Given the description of an element on the screen output the (x, y) to click on. 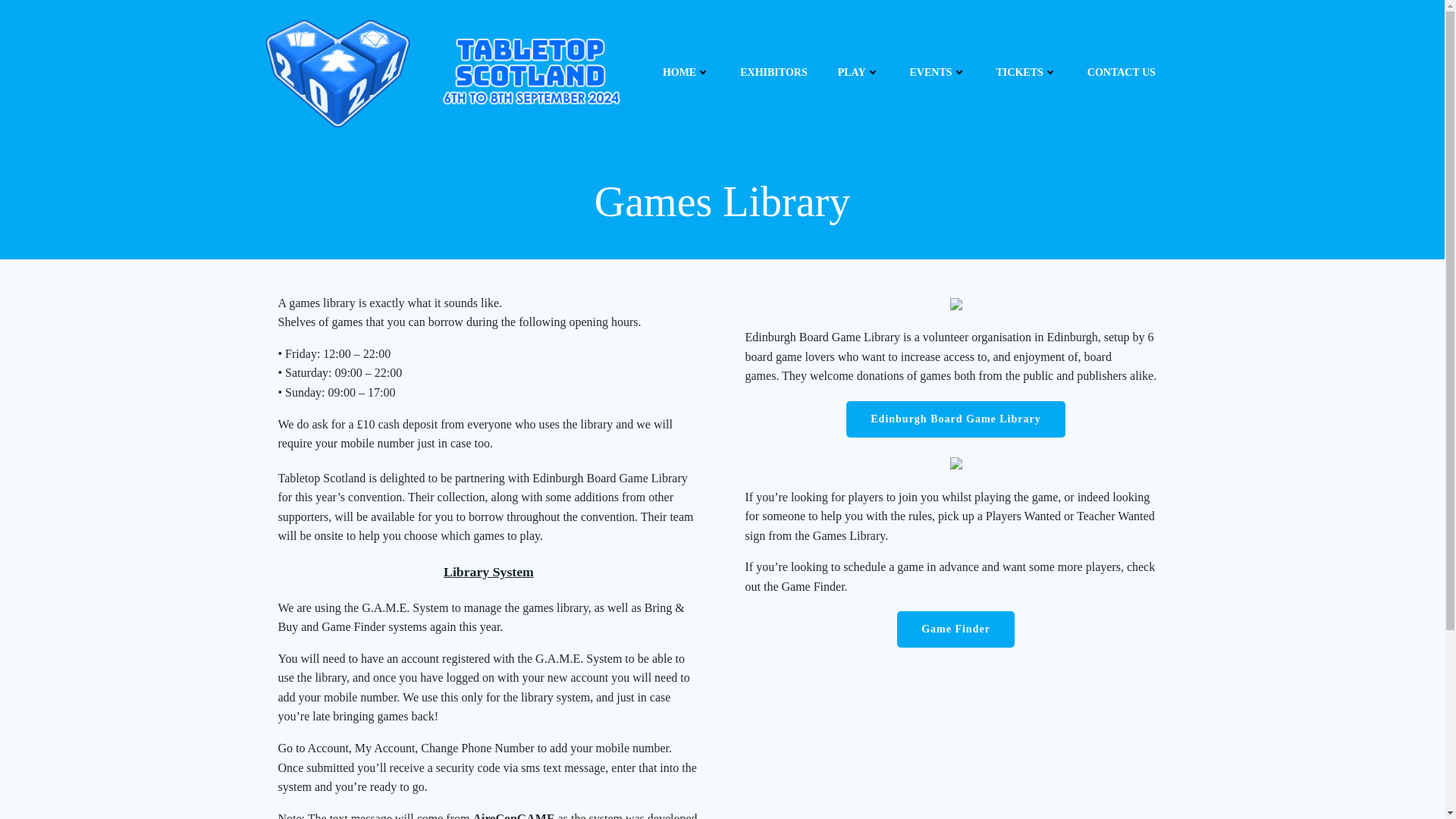
HOME (686, 72)
TICKETS (1026, 72)
EXHIBITORS (772, 72)
EVENTS (938, 72)
PLAY (858, 72)
CONTACT US (1121, 72)
